Given the description of an element on the screen output the (x, y) to click on. 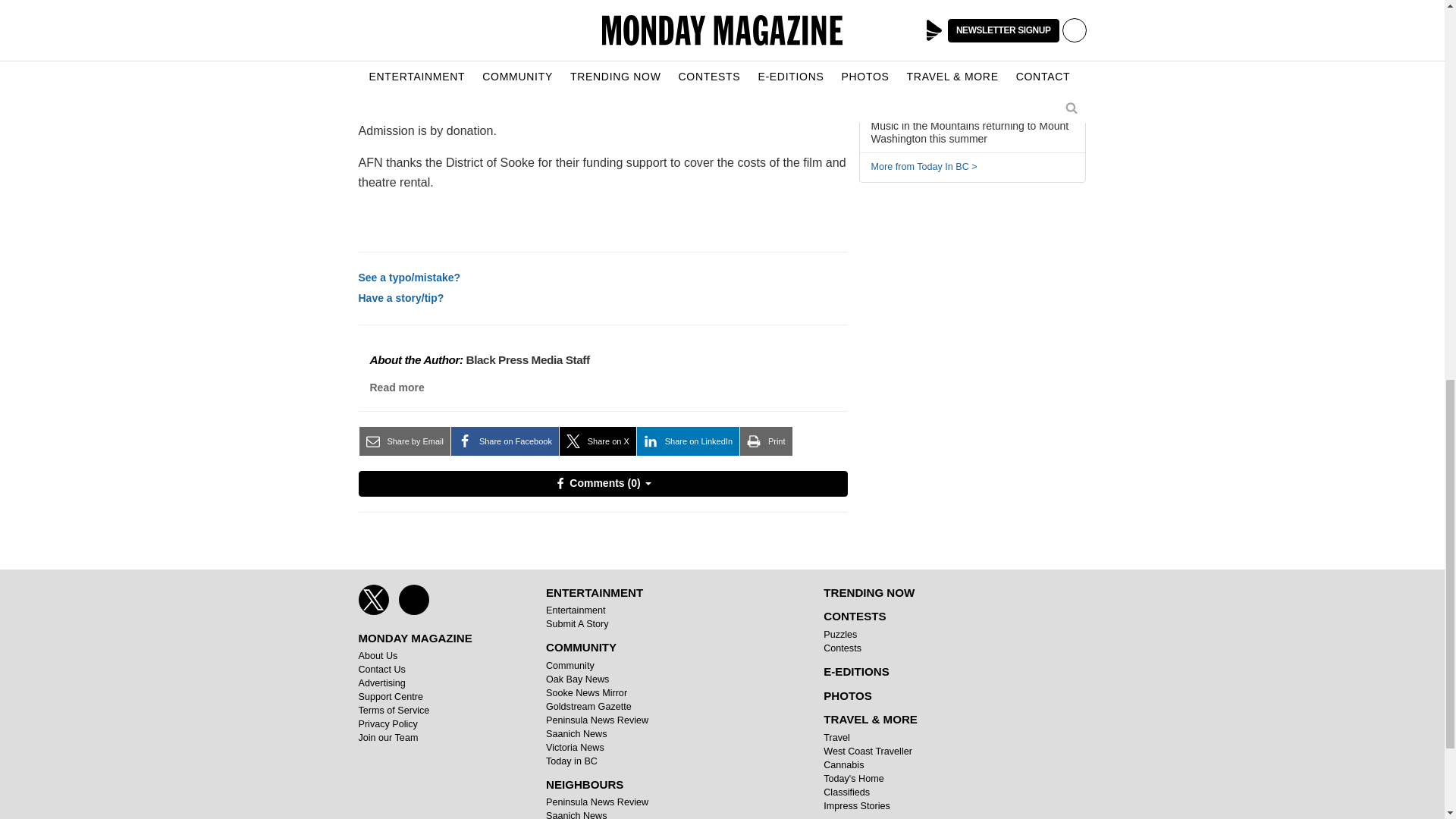
Has a gallery (921, 60)
X (373, 599)
Show Comments (602, 483)
Instagram (413, 599)
Has a gallery (947, 100)
